Given the description of an element on the screen output the (x, y) to click on. 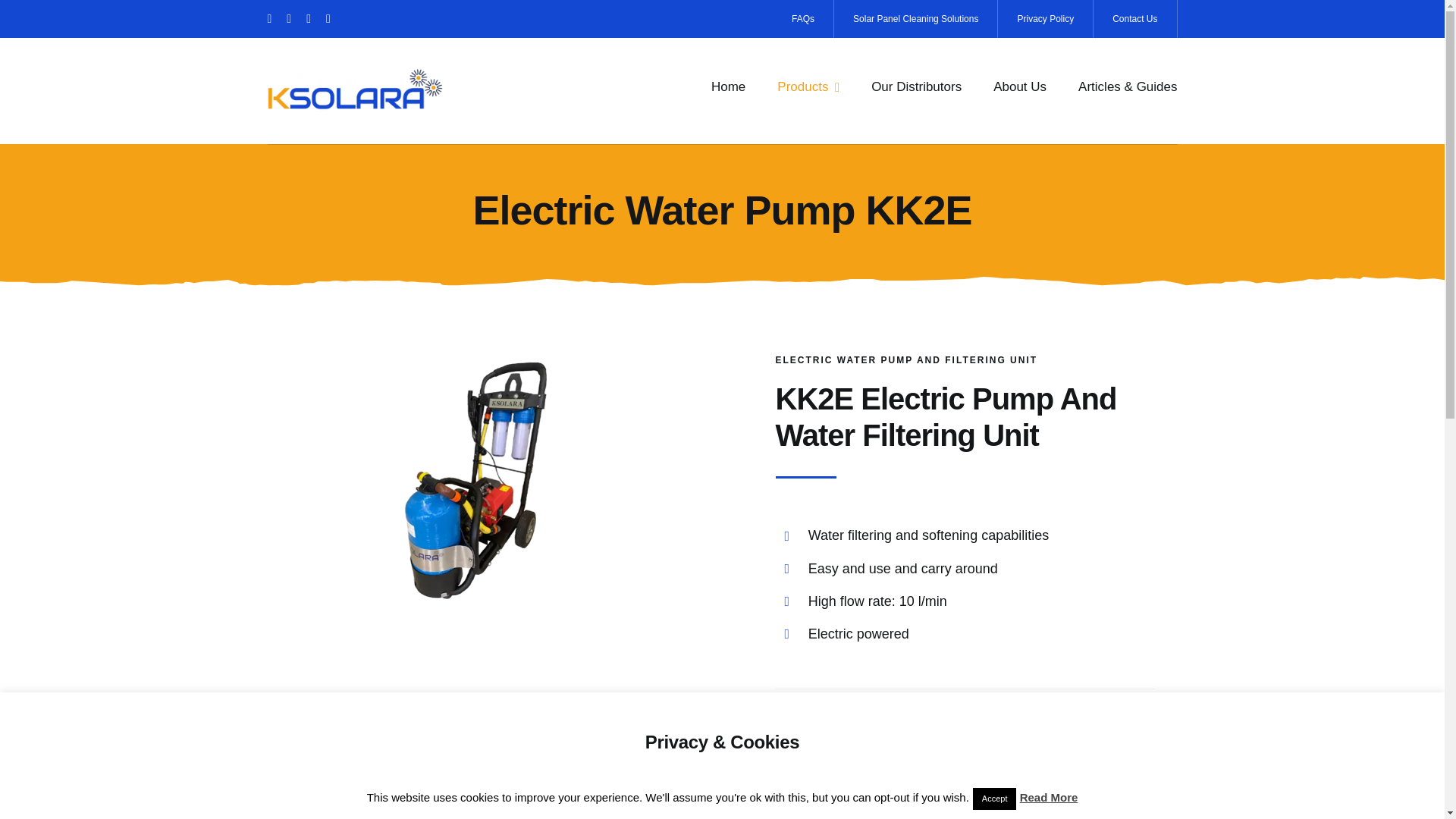
Our Distributors (915, 86)
Solar Panel Cleaning Solutions (915, 18)
Products (808, 86)
Home (728, 86)
FAQs (803, 18)
Contact Us (1134, 18)
About Us (1019, 86)
Privacy Policy (1045, 18)
